Given the description of an element on the screen output the (x, y) to click on. 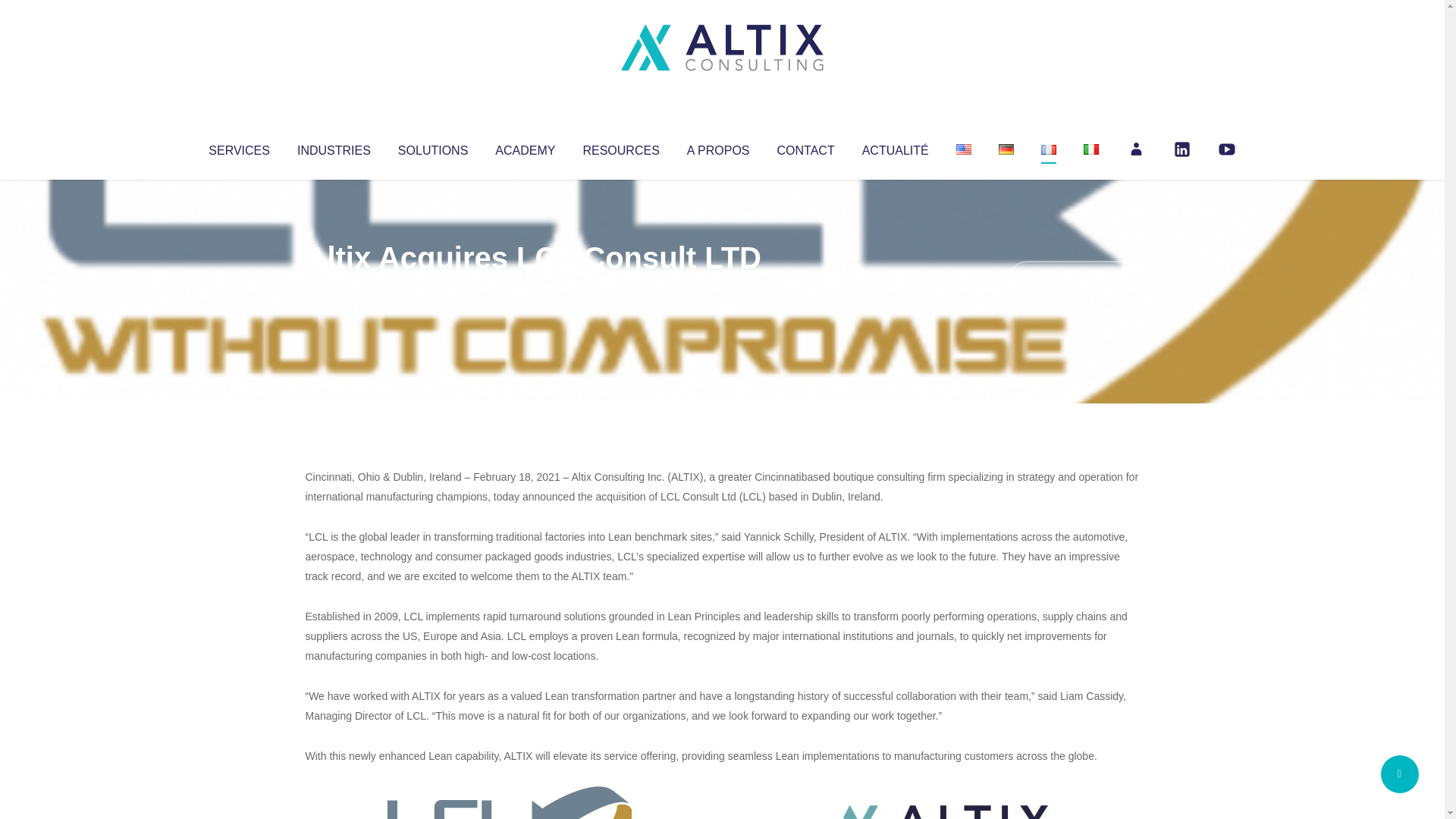
SOLUTIONS (432, 146)
No Comments (1073, 278)
Articles par Altix (333, 287)
Uncategorized (530, 287)
INDUSTRIES (334, 146)
SERVICES (238, 146)
RESOURCES (620, 146)
ACADEMY (524, 146)
A PROPOS (718, 146)
Altix (333, 287)
